Given the description of an element on the screen output the (x, y) to click on. 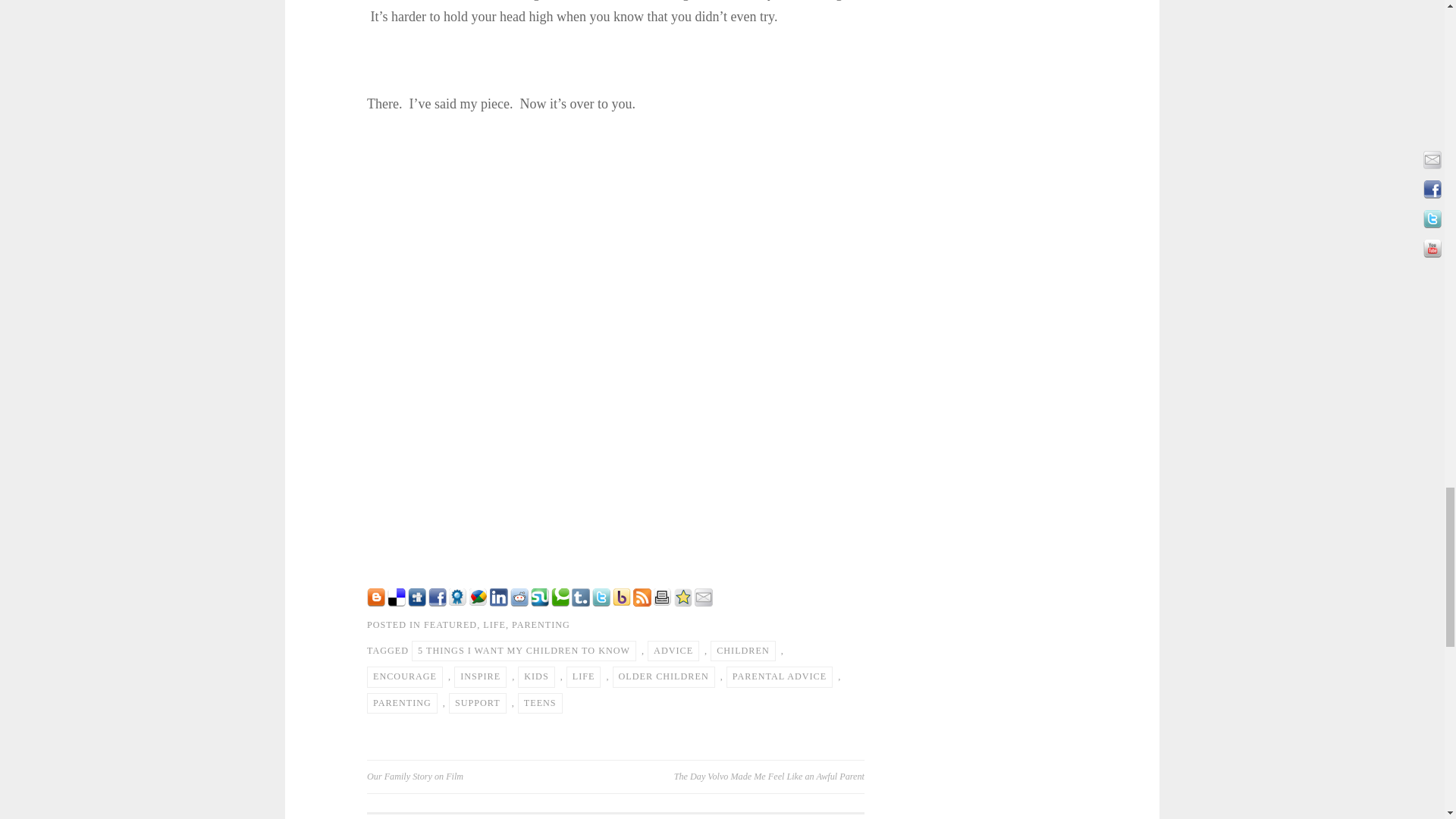
Tumblr. this post : 5 Things I Want My Children to Know  (580, 601)
Digg this post : 5 Things I Want My Children to Know (416, 601)
Buzz up this post : 5 Things I Want My Children to Know  (477, 601)
Buzz up this post : 5 Things I Want My Children to Know  (621, 601)
